Given the description of an element on the screen output the (x, y) to click on. 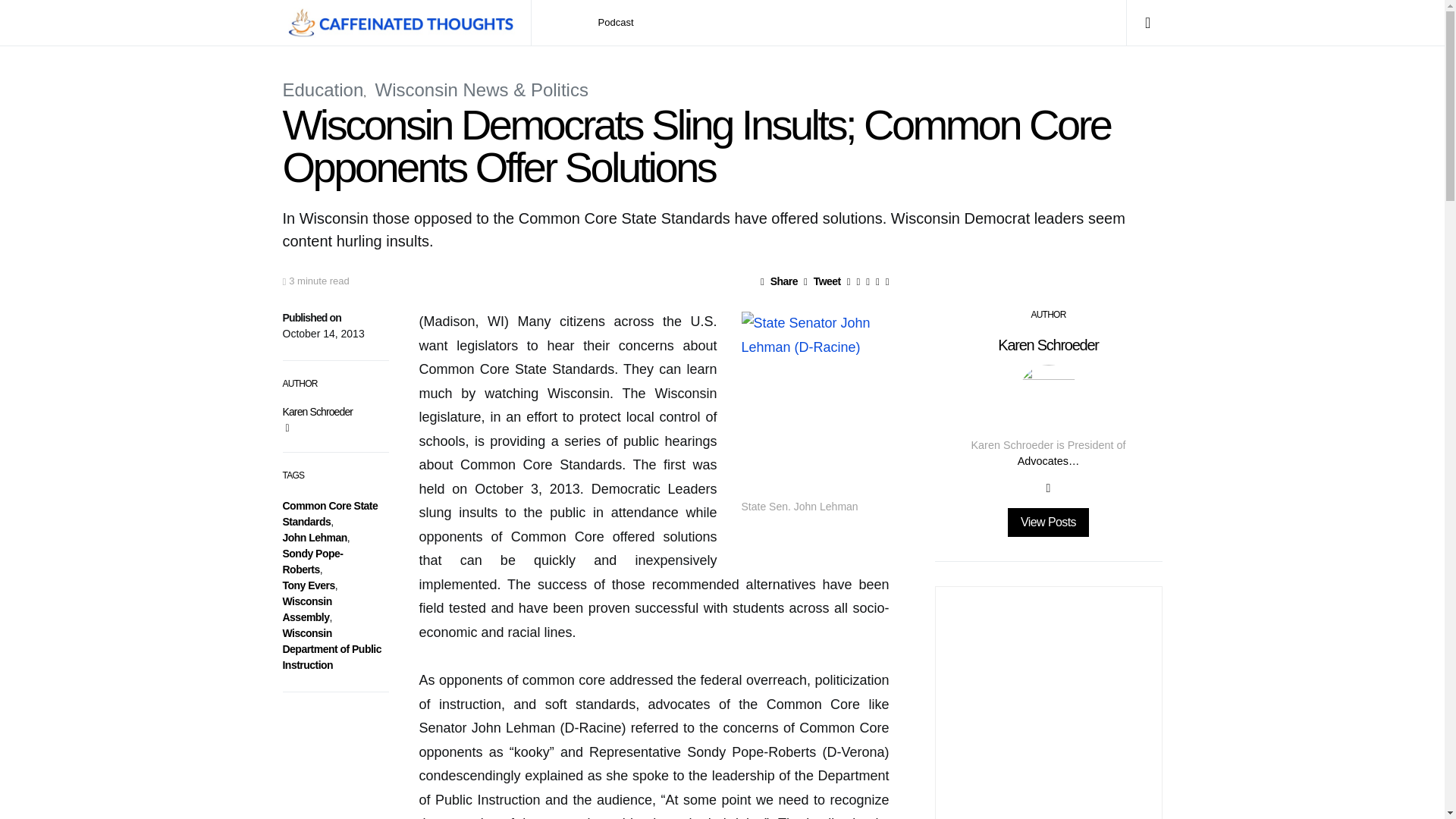
Sondy Pope-Roberts (312, 561)
Education (322, 89)
Share (778, 280)
John Lehman (314, 537)
Wisconsin Department of Public Instruction (331, 648)
Tweet (822, 280)
Karen Schroeder (317, 411)
Wisconsin Assembly (306, 609)
Podcast (616, 22)
Tony Evers (308, 585)
